Given the description of an element on the screen output the (x, y) to click on. 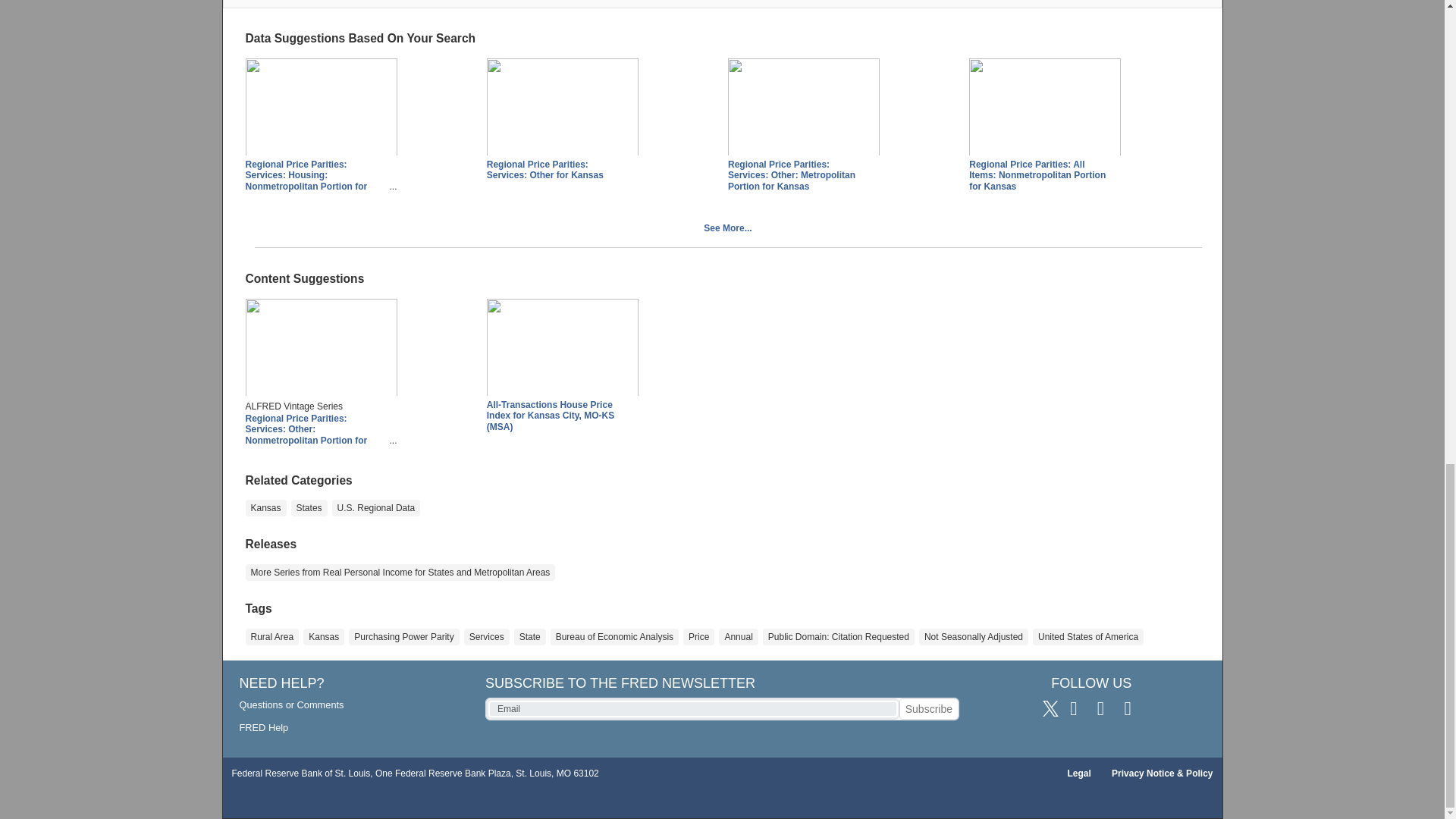
Regional Price Parities: Services: Other for Kansas (562, 108)
Regional Price Parities: Services: Other for Kansas (545, 169)
